Given the description of an element on the screen output the (x, y) to click on. 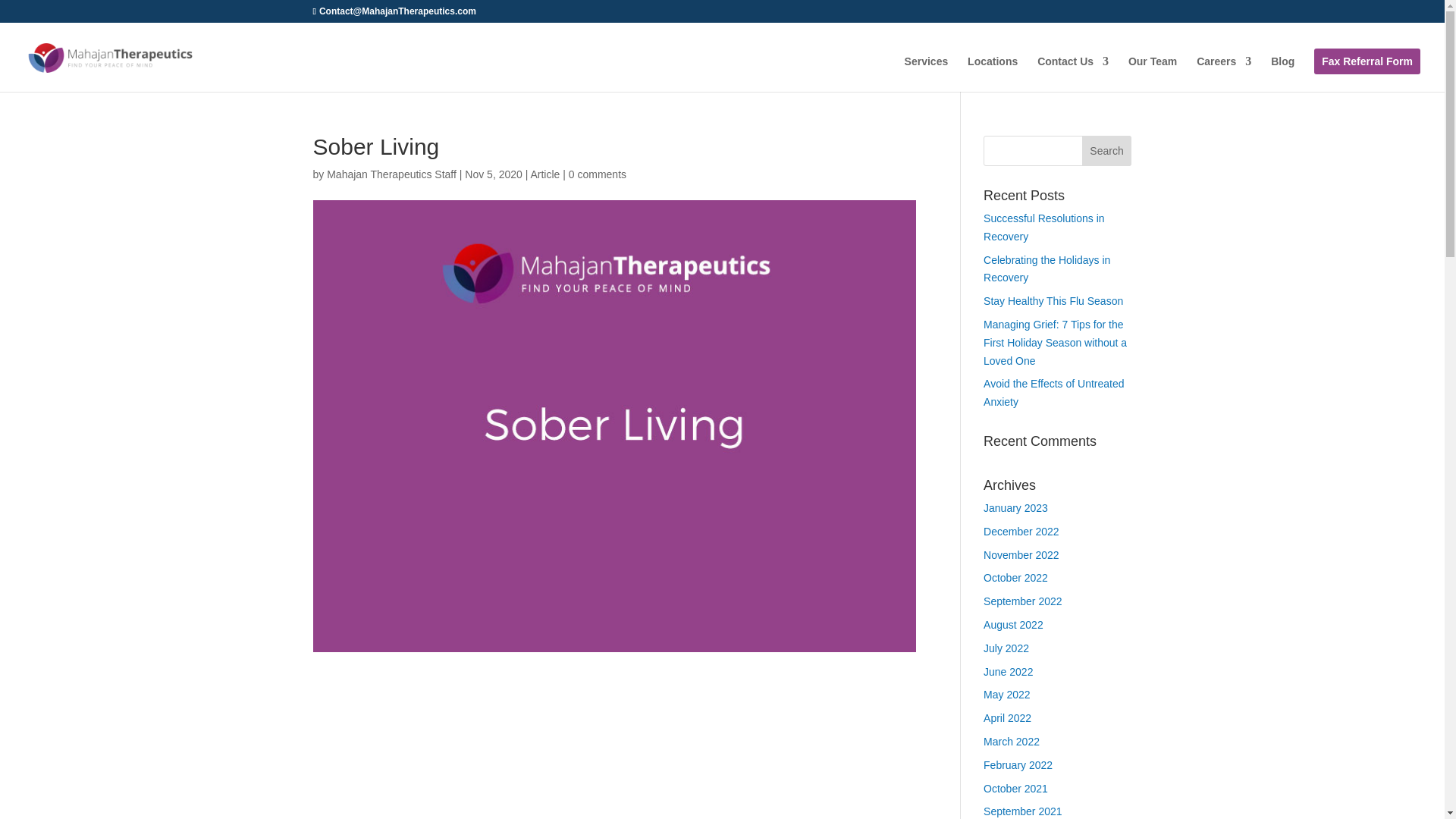
September 2022 (1023, 601)
August 2022 (1013, 624)
Successful Resolutions in Recovery (1044, 227)
November 2022 (1021, 554)
Stay Healthy This Flu Season (1053, 300)
Posts by Mahajan Therapeutics Staff (391, 174)
Article (544, 174)
January 2023 (1016, 508)
What is Sober Living? (614, 769)
Search (1106, 150)
Our Team (1152, 73)
December 2022 (1021, 531)
Mahajan Therapeutics Staff (391, 174)
Search (1106, 150)
